Given the description of an element on the screen output the (x, y) to click on. 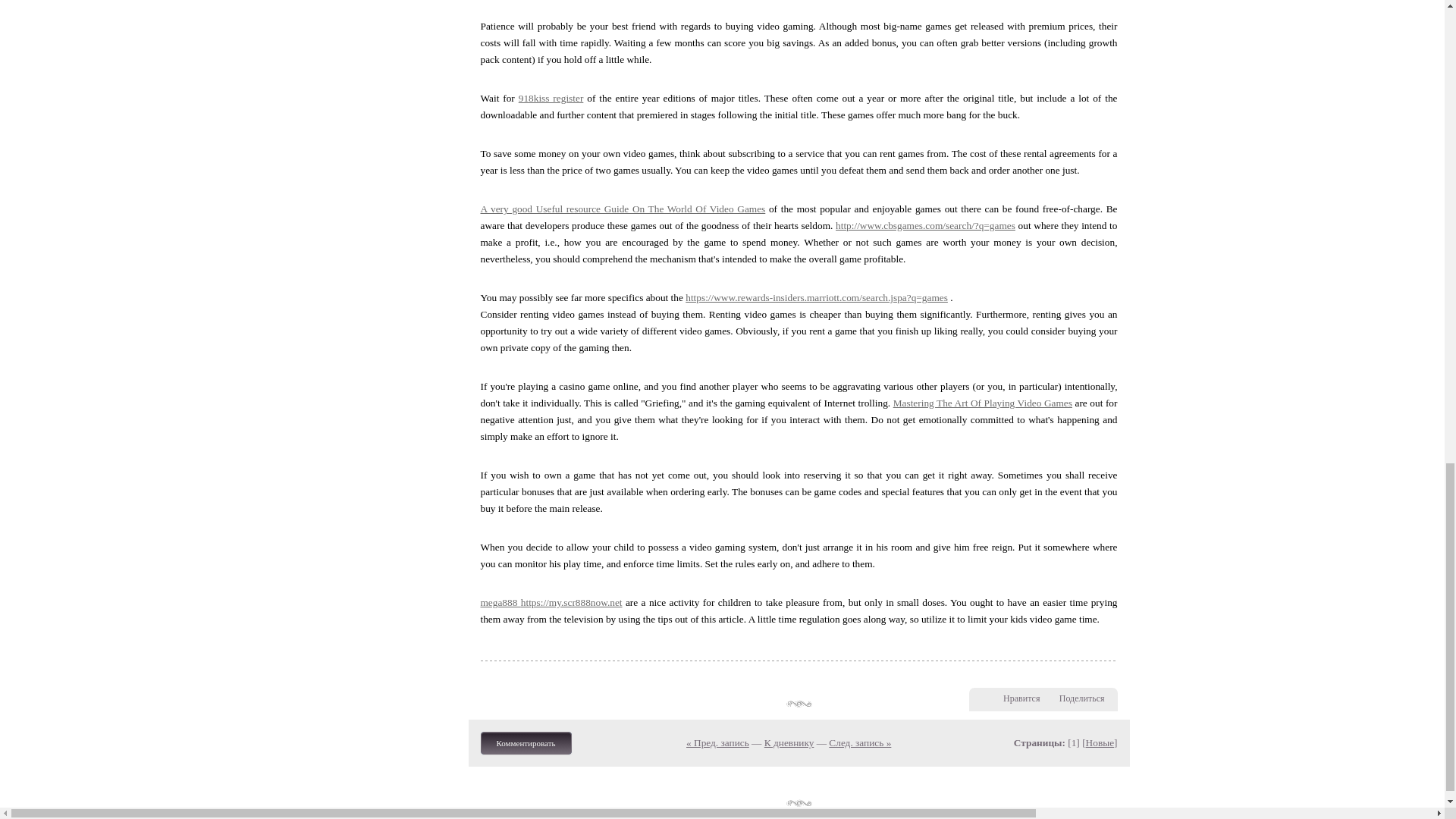
918kiss register (550, 98)
